Given the description of an element on the screen output the (x, y) to click on. 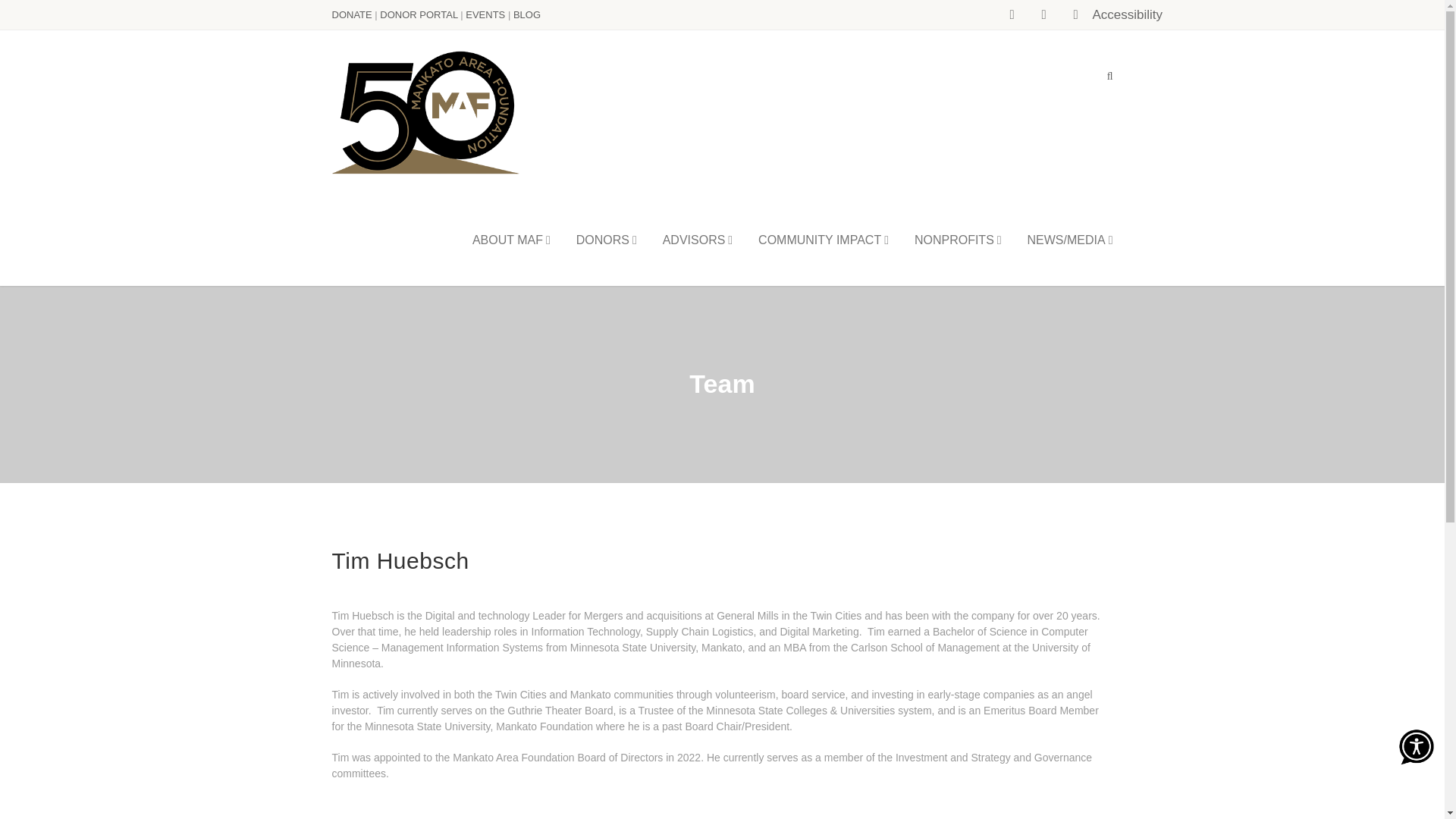
EVENTS (485, 14)
BLOG (526, 14)
DONATE (353, 14)
COMMUNITY IMPACT (823, 239)
Mankato Area Foundation (426, 112)
DONOR PORTAL (418, 14)
Accessibility Tools (1107, 15)
